Given the description of an element on the screen output the (x, y) to click on. 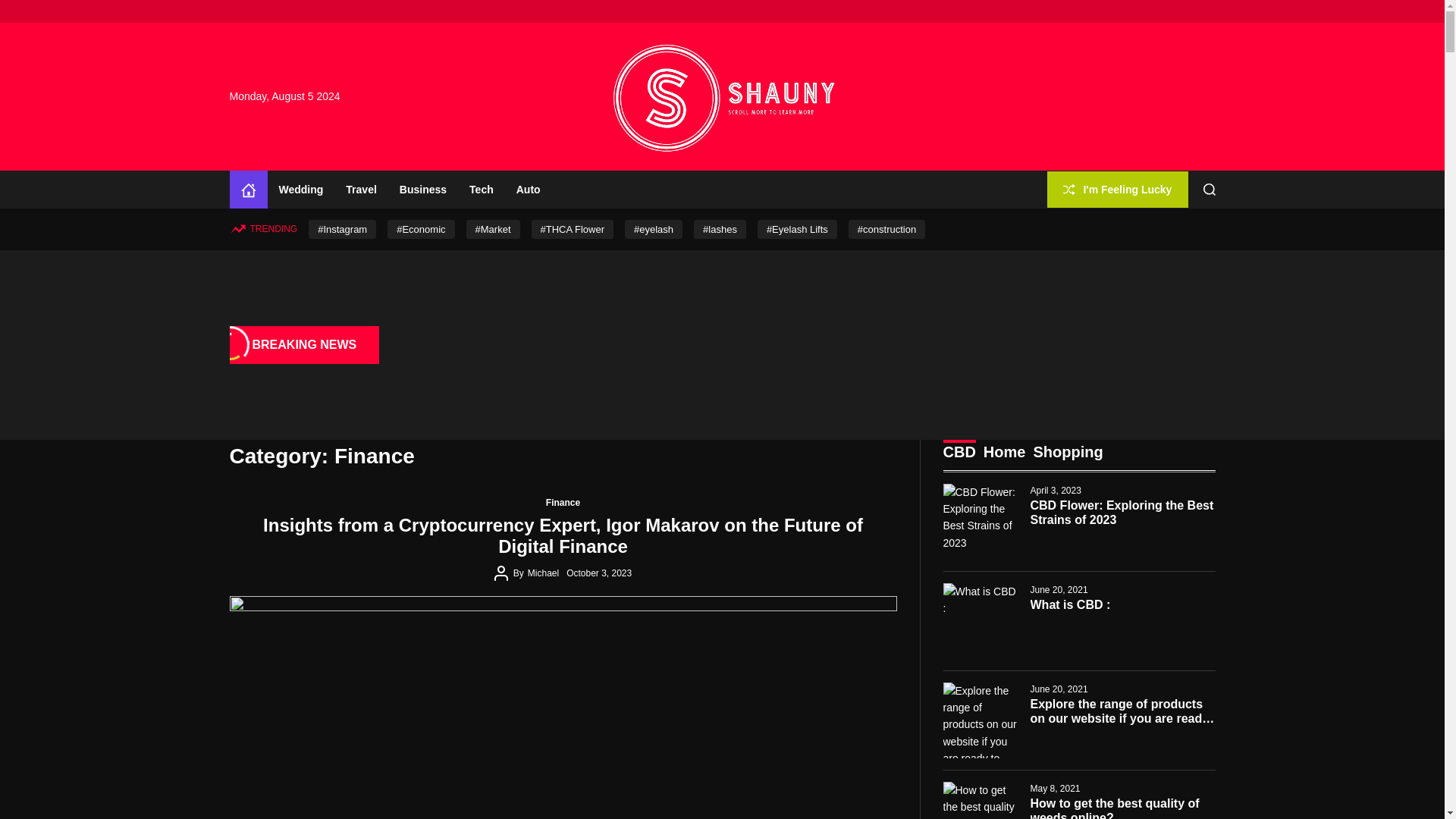
Finance (562, 503)
Search (1209, 189)
Tech (481, 189)
Business (423, 189)
Auto (528, 189)
Home (247, 189)
Travel (360, 189)
Wedding (300, 189)
Michael (543, 573)
I'm Feeling Lucky (1117, 189)
